Given the description of an element on the screen output the (x, y) to click on. 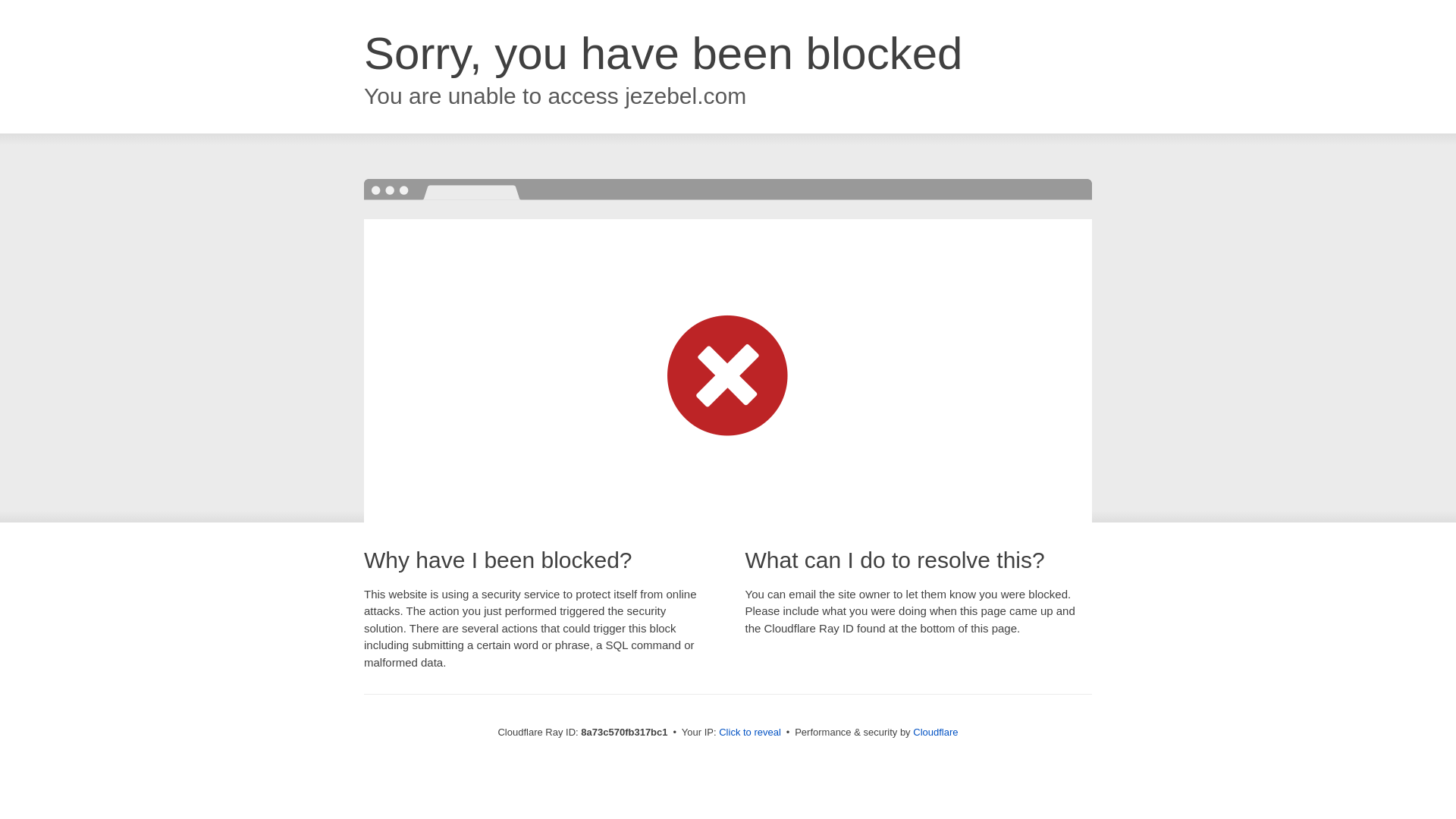
Cloudflare (935, 731)
Click to reveal (749, 732)
